Given the description of an element on the screen output the (x, y) to click on. 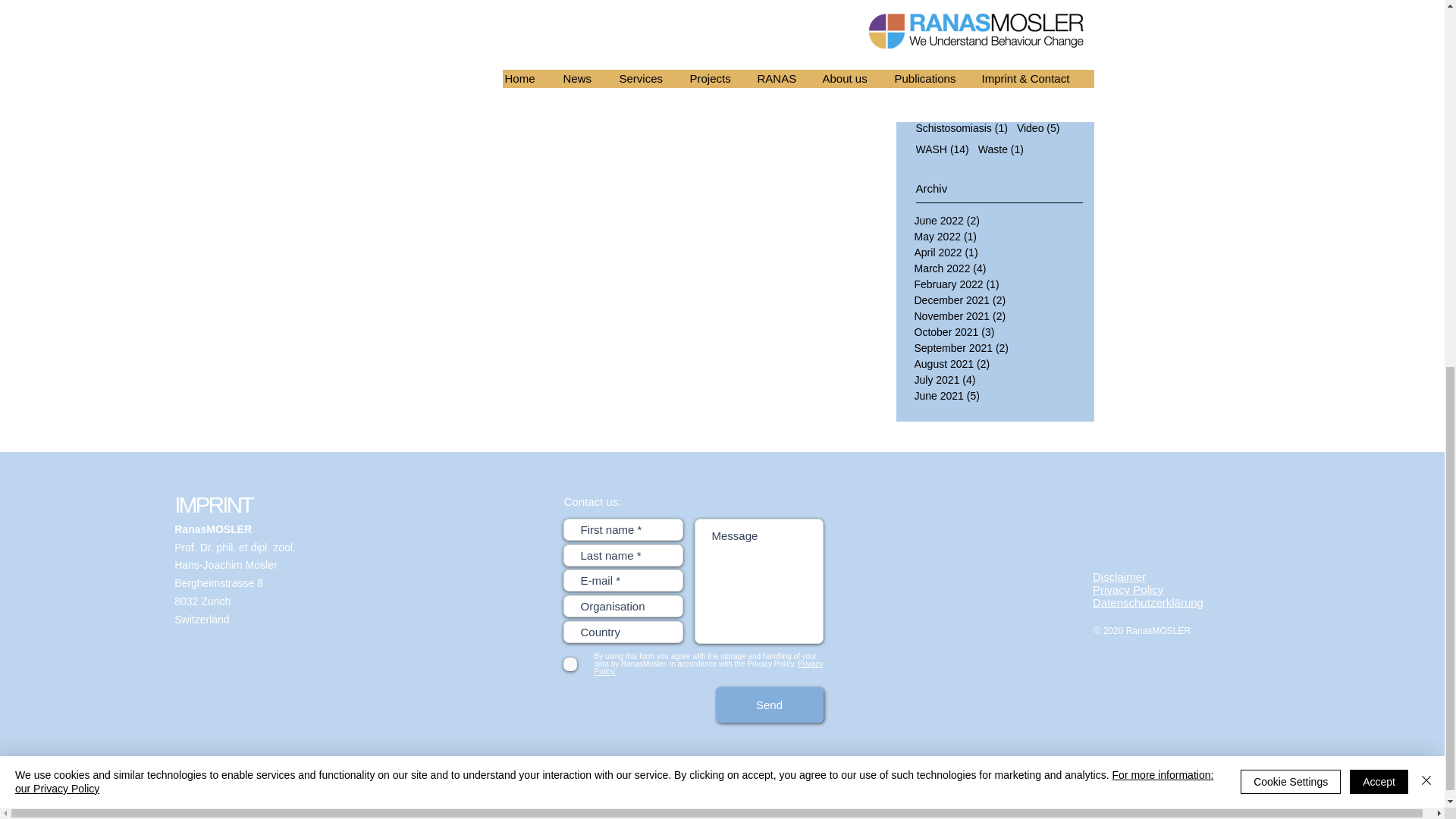
Post not marked as liked (571, 111)
